Given the description of an element on the screen output the (x, y) to click on. 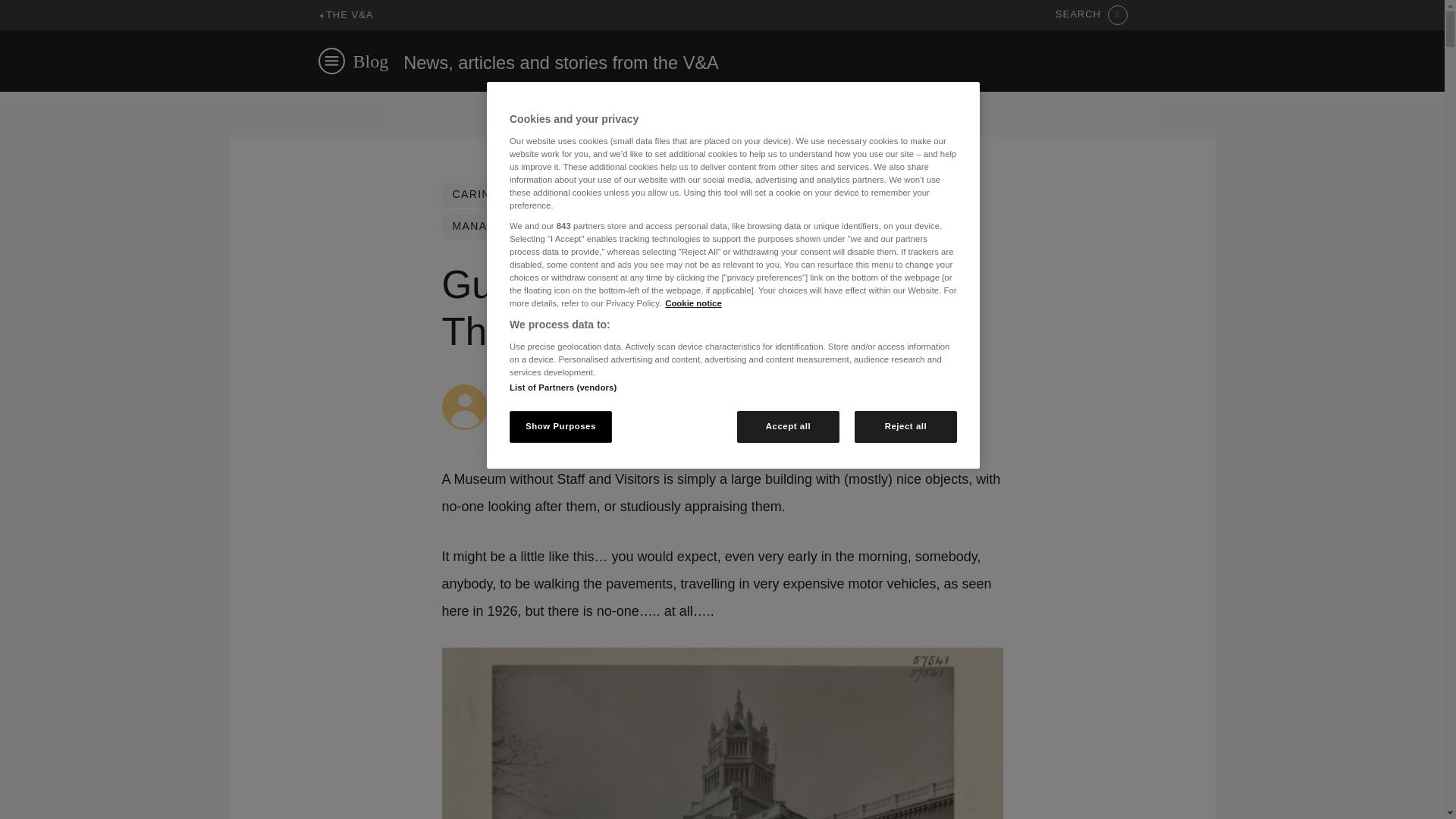
CARING FOR OUR COLLECTIONS (551, 194)
CONSERVATION (730, 194)
Steve Woodhouse (546, 391)
Blog (370, 60)
MANAGING OUR COLLECTIONS (545, 226)
SEARCH (1090, 15)
Posts by Steve Woodhouse (546, 391)
